Given the description of an element on the screen output the (x, y) to click on. 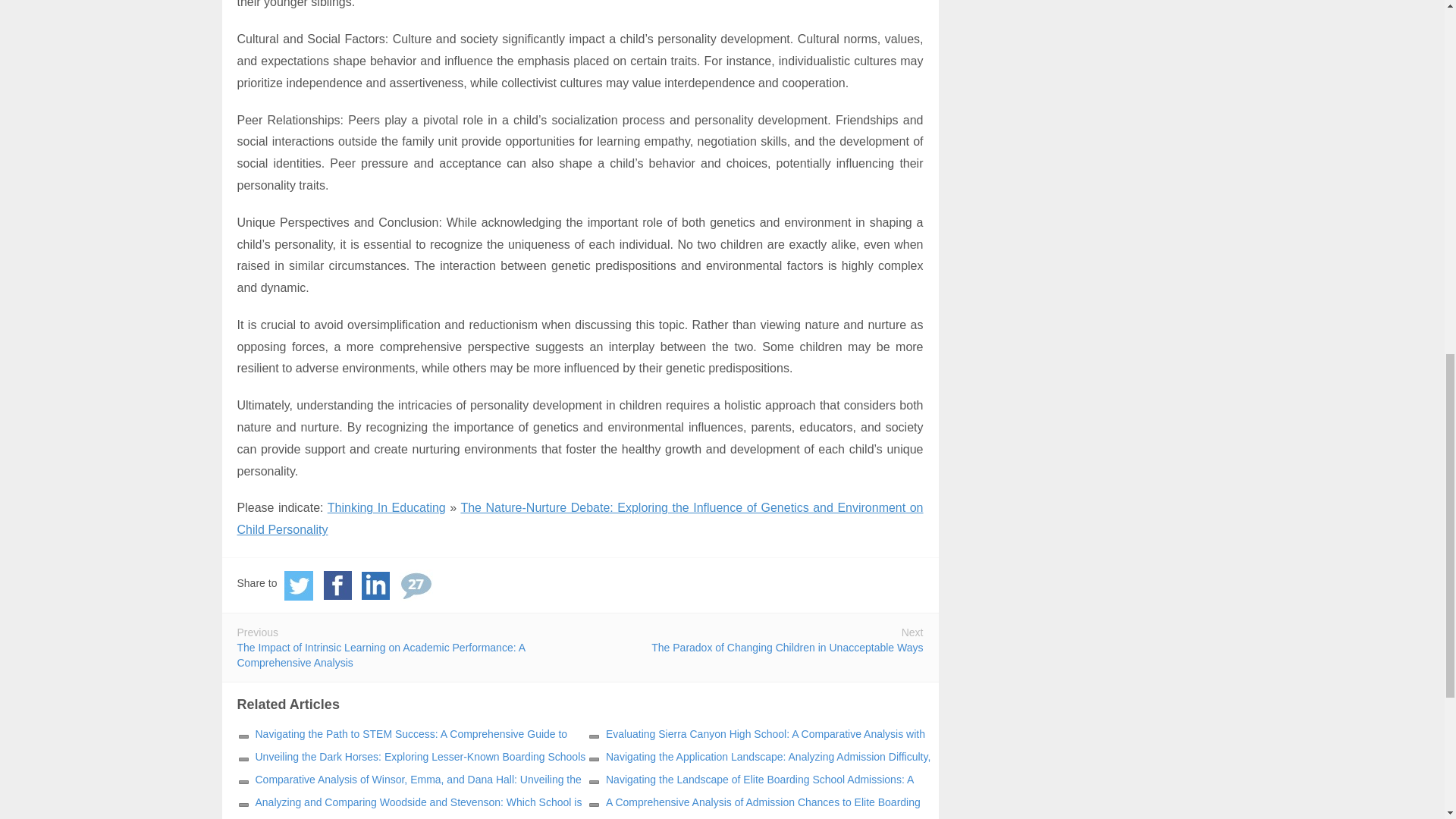
Thinking In Educating (386, 507)
The Paradox of Changing Children in Unacceptable Ways (786, 647)
